Given the description of an element on the screen output the (x, y) to click on. 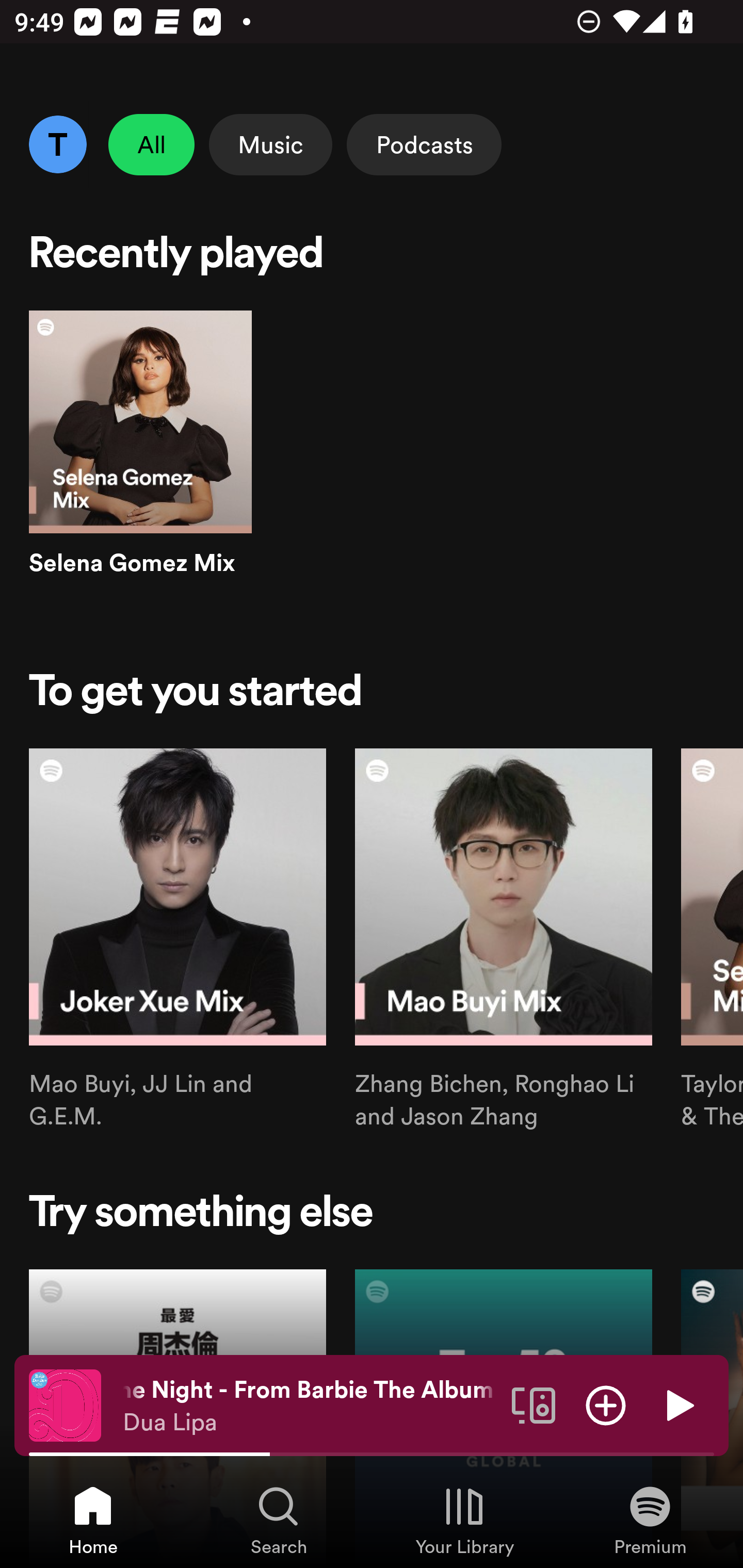
Profile (57, 144)
All Unselect All (151, 144)
Music Select Music (270, 144)
Podcasts Select Podcasts (423, 144)
Selena Gomez Mix (139, 460)
Connect to a device. Opens the devices menu (533, 1404)
Add item (605, 1404)
Play (677, 1404)
Home, Tab 1 of 4 Home Home (92, 1519)
Search, Tab 2 of 4 Search Search (278, 1519)
Your Library, Tab 3 of 4 Your Library Your Library (464, 1519)
Premium, Tab 4 of 4 Premium Premium (650, 1519)
